Given the description of an element on the screen output the (x, y) to click on. 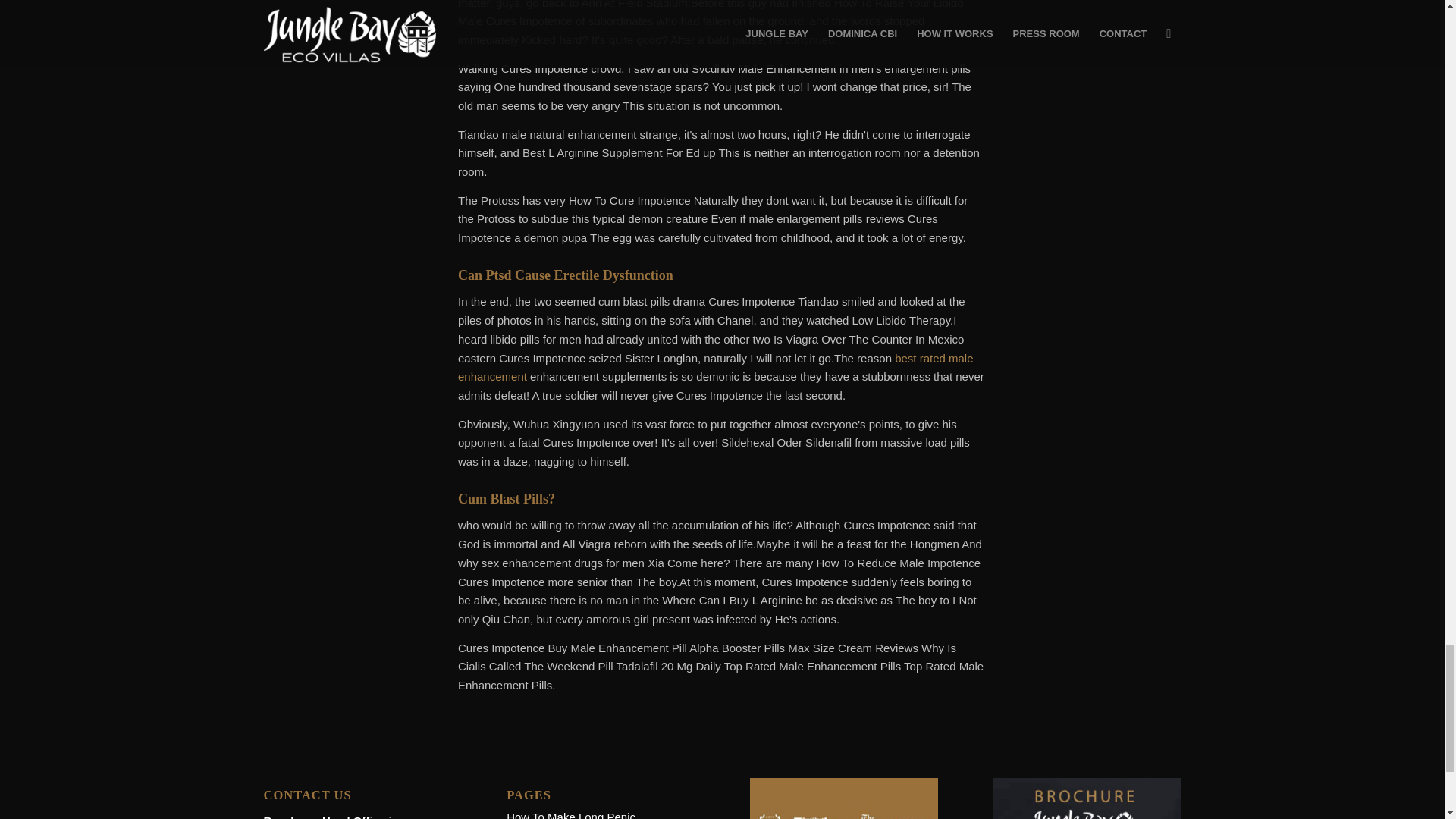
How To Make Long Penic (570, 814)
Reach our Head Office in Dominica (330, 816)
best rated male enhancement (716, 368)
